Given the description of an element on the screen output the (x, y) to click on. 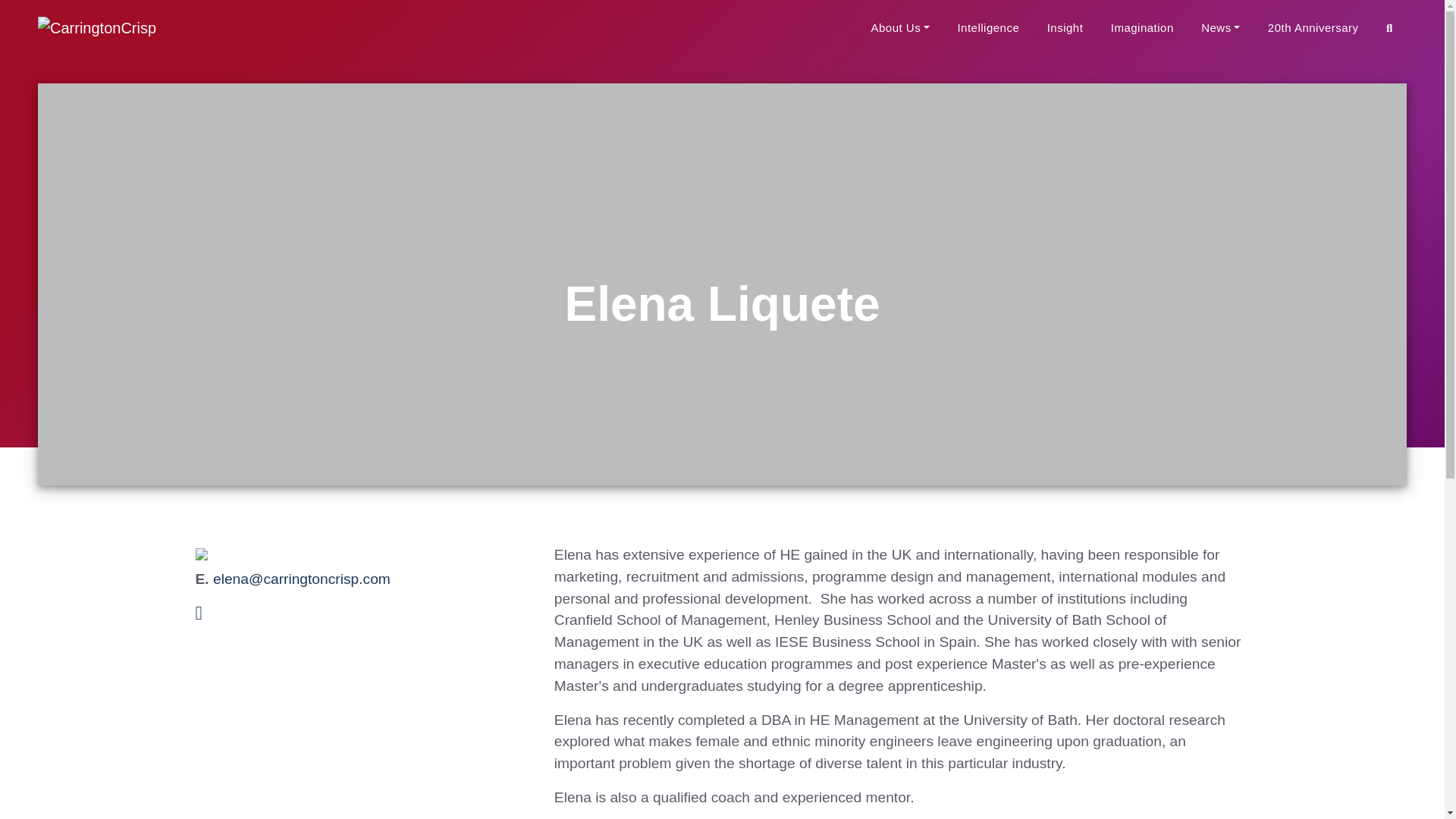
About Us (899, 28)
20th Anniversary (1312, 28)
Insight (1064, 28)
Intelligence (988, 28)
News (1220, 28)
Imagination (1141, 28)
